Given the description of an element on the screen output the (x, y) to click on. 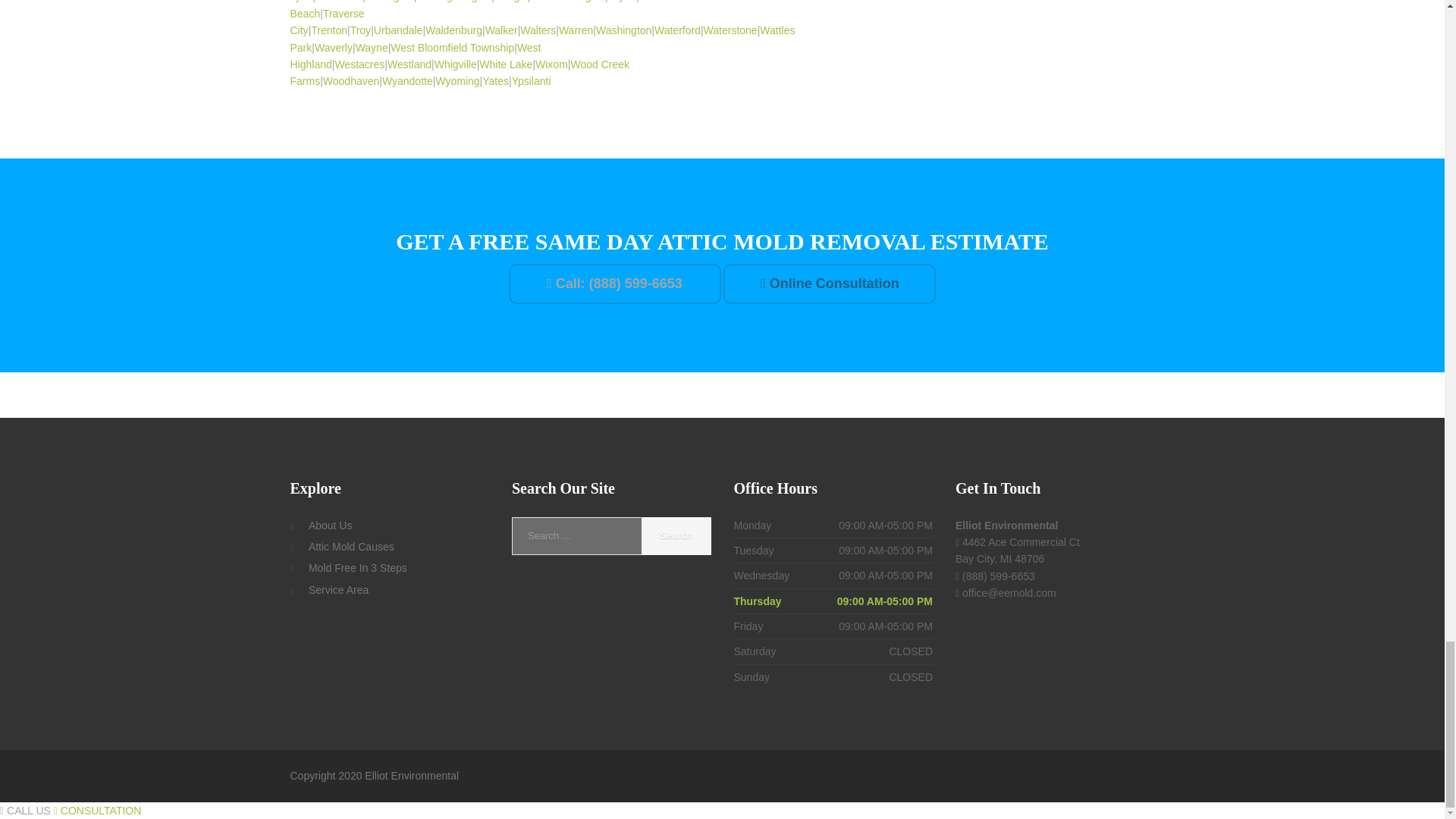
Search (676, 535)
Search (676, 535)
